Given the description of an element on the screen output the (x, y) to click on. 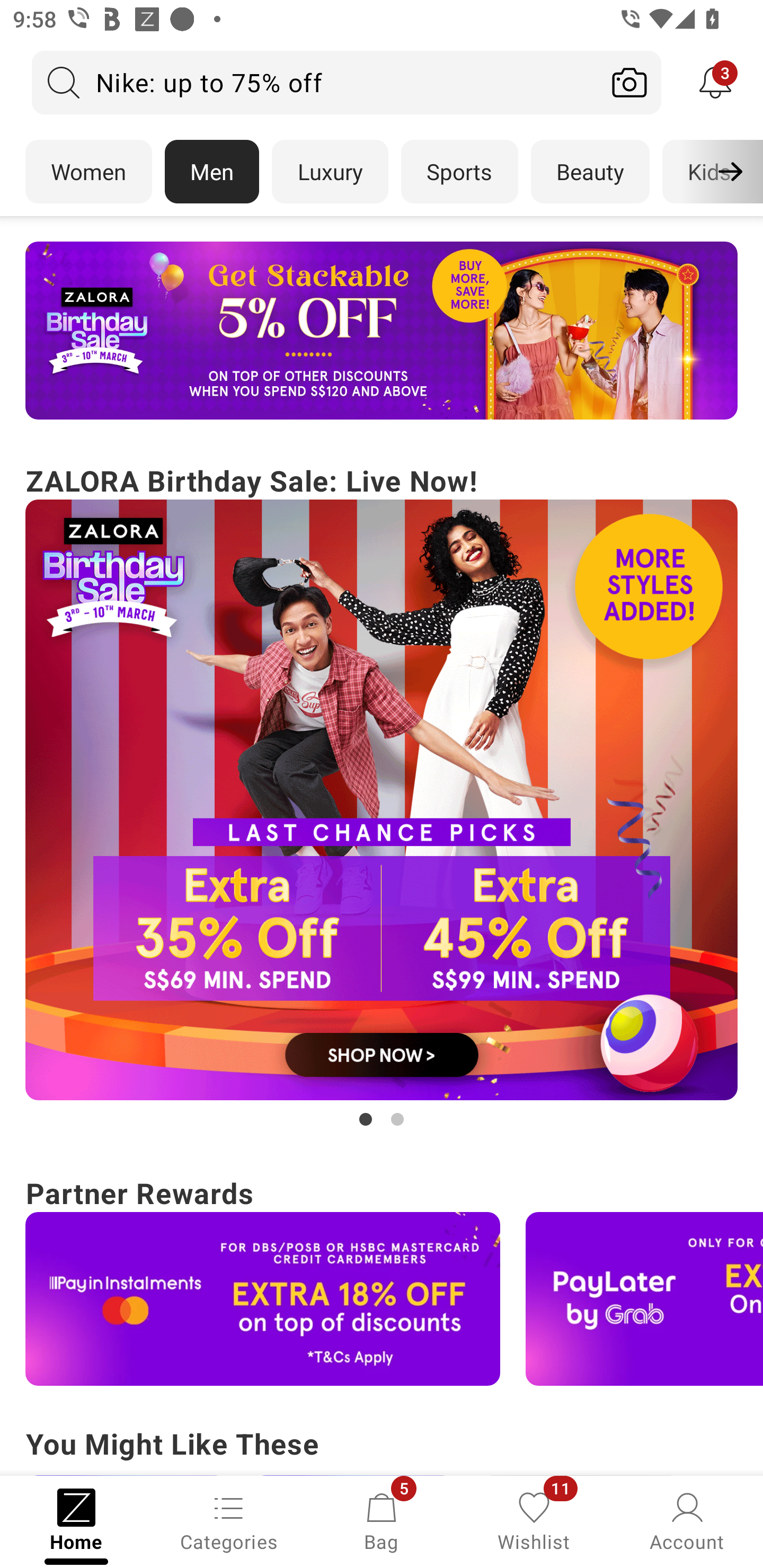
Nike: up to 75% off (314, 82)
Women (88, 171)
Men (211, 171)
Luxury (329, 171)
Sports (459, 171)
Beauty (590, 171)
Campaign banner (381, 330)
ZALORA Birthday Sale: Live Now! Campaign banner (381, 794)
Campaign banner (381, 800)
Partner Rewards Campaign banner Campaign banner (381, 1277)
Campaign banner (262, 1299)
Campaign banner (644, 1299)
Categories (228, 1519)
Bag, 5 new notifications Bag (381, 1519)
Wishlist, 11 new notifications Wishlist (533, 1519)
Account (686, 1519)
